Given the description of an element on the screen output the (x, y) to click on. 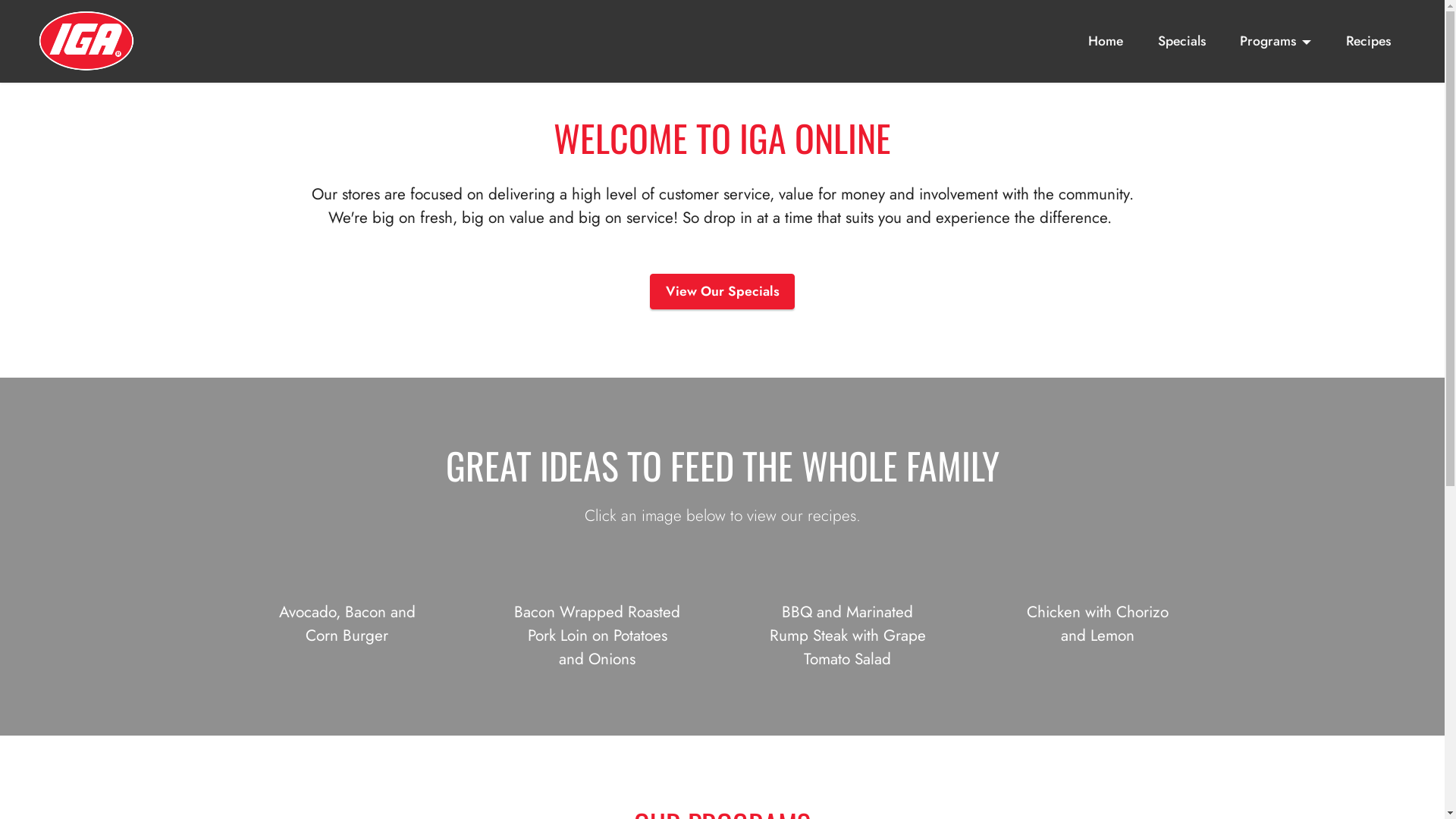
Recipes Element type: text (1368, 40)
Specials Element type: text (1181, 40)
View Our Specials Element type: text (721, 291)
Home Element type: text (1105, 40)
Programs Element type: text (1275, 40)
title 1 Element type: hover (14, 51)
